Given the description of an element on the screen output the (x, y) to click on. 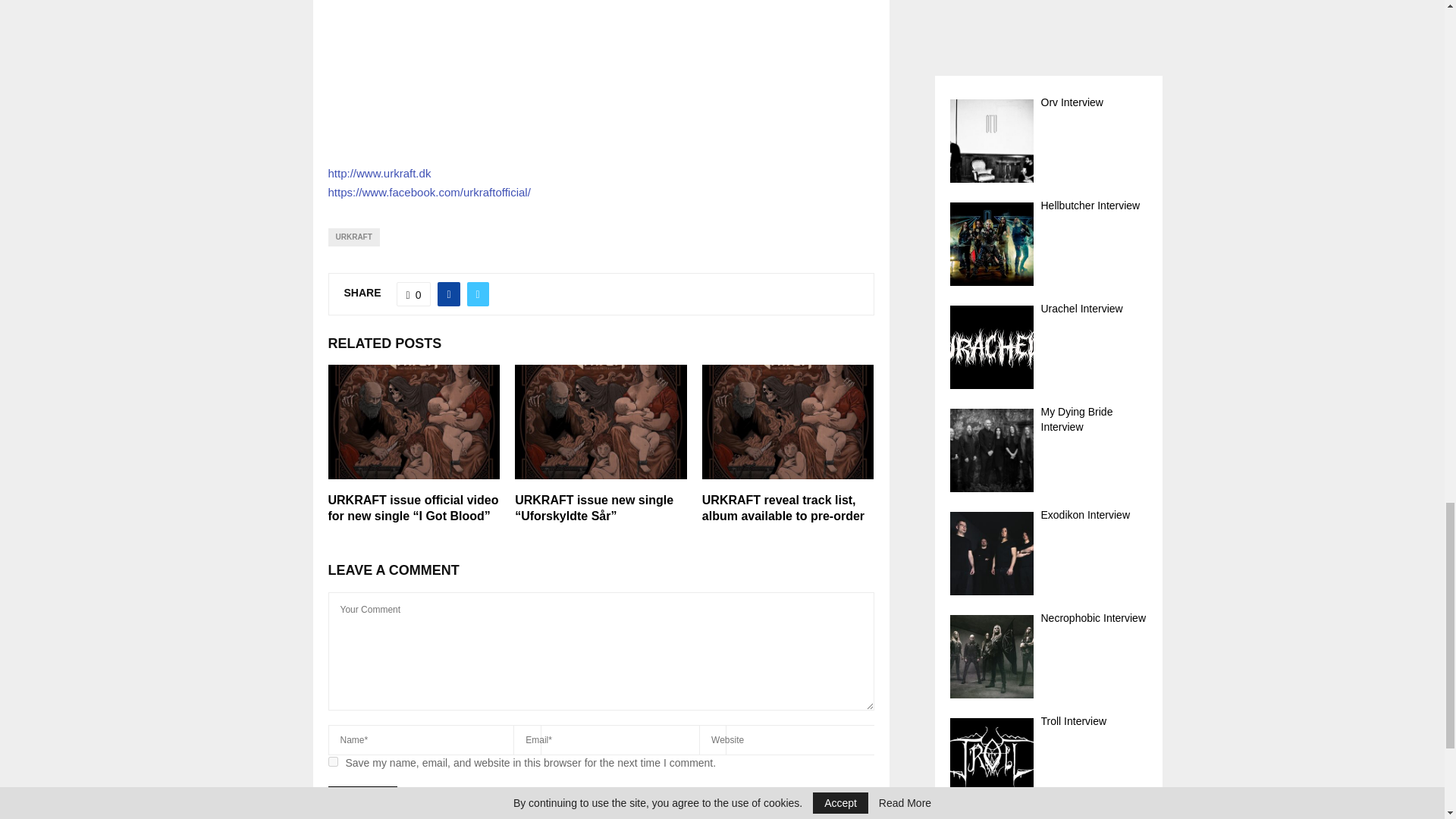
Like (413, 293)
Submit (362, 800)
Submit (362, 800)
URKRAFT reveal track list, album available to pre-order (782, 507)
yes (332, 761)
0 (413, 293)
URKRAFT (352, 237)
